Given the description of an element on the screen output the (x, y) to click on. 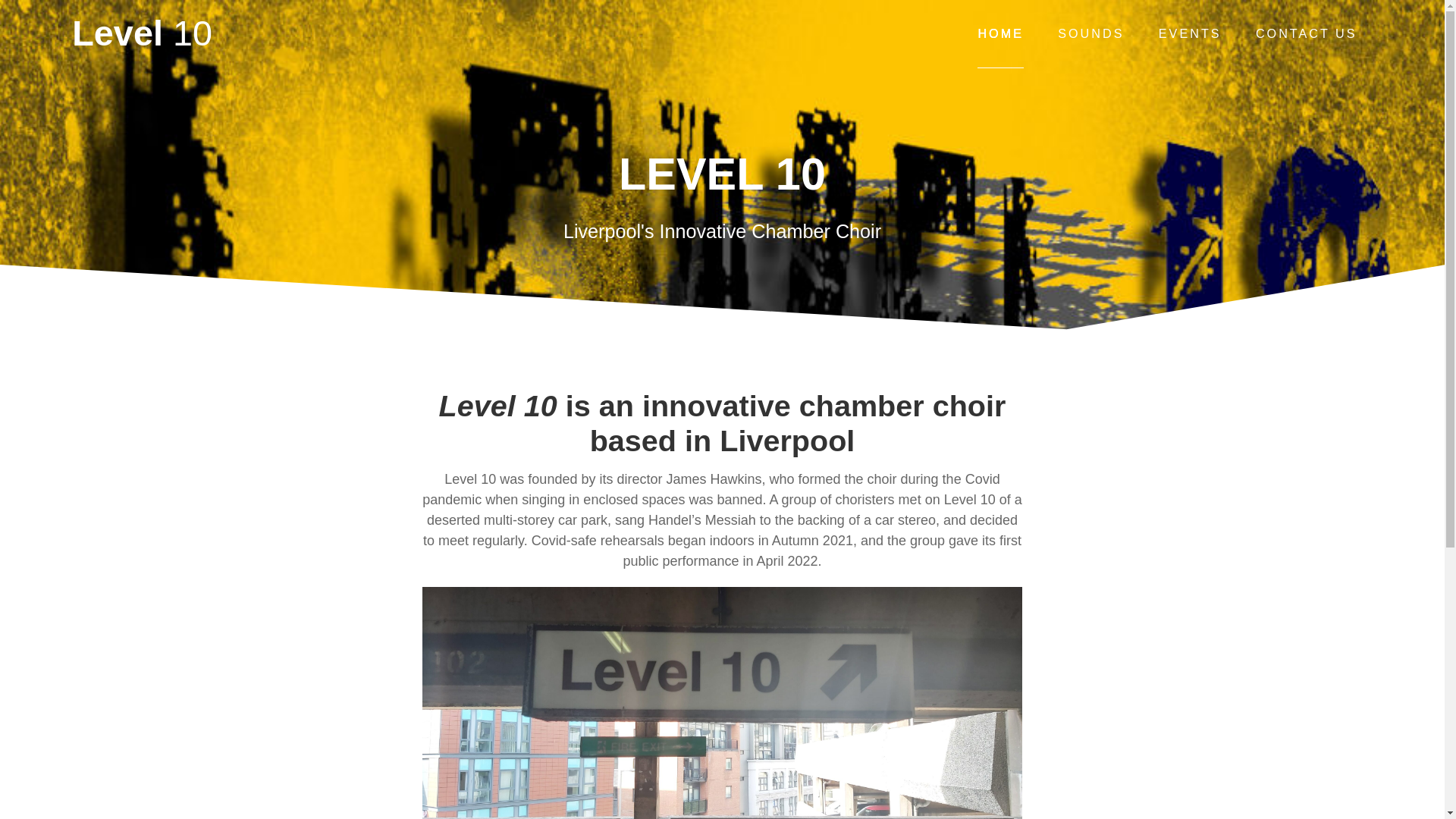
Level 10 (141, 33)
SOUNDS (1091, 33)
EVENTS (1189, 33)
CONTACT US (1305, 33)
